Given the description of an element on the screen output the (x, y) to click on. 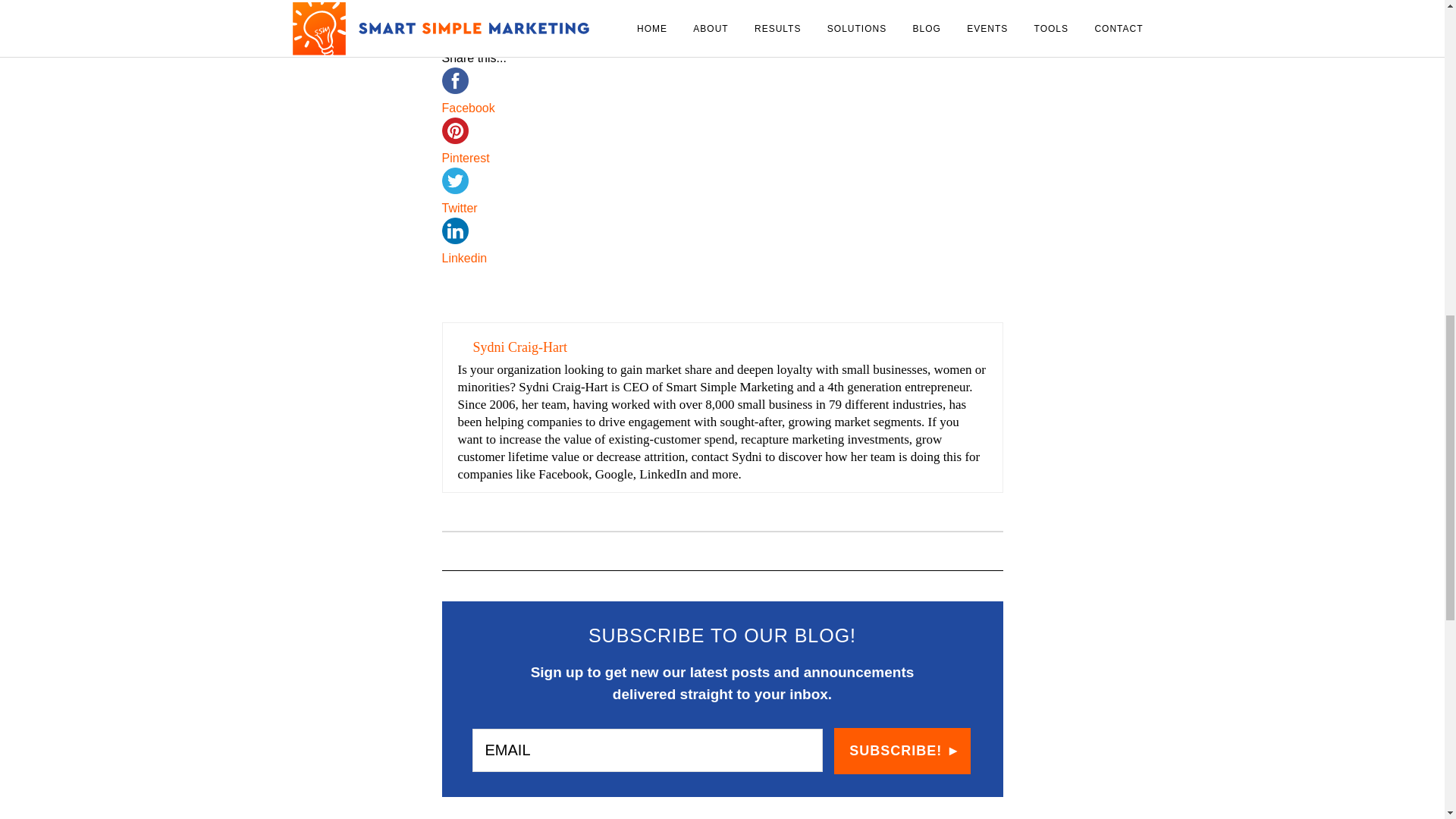
Sydni Craig-Hart (520, 346)
Pinterest (722, 158)
Pinterest (722, 164)
Smart Simple Marketing (834, 4)
linkedin (454, 230)
Sydni Craig-Hart (949, 4)
twitter (454, 180)
facebook (454, 80)
EMAIL (646, 750)
Networking (731, 4)
